Given the description of an element on the screen output the (x, y) to click on. 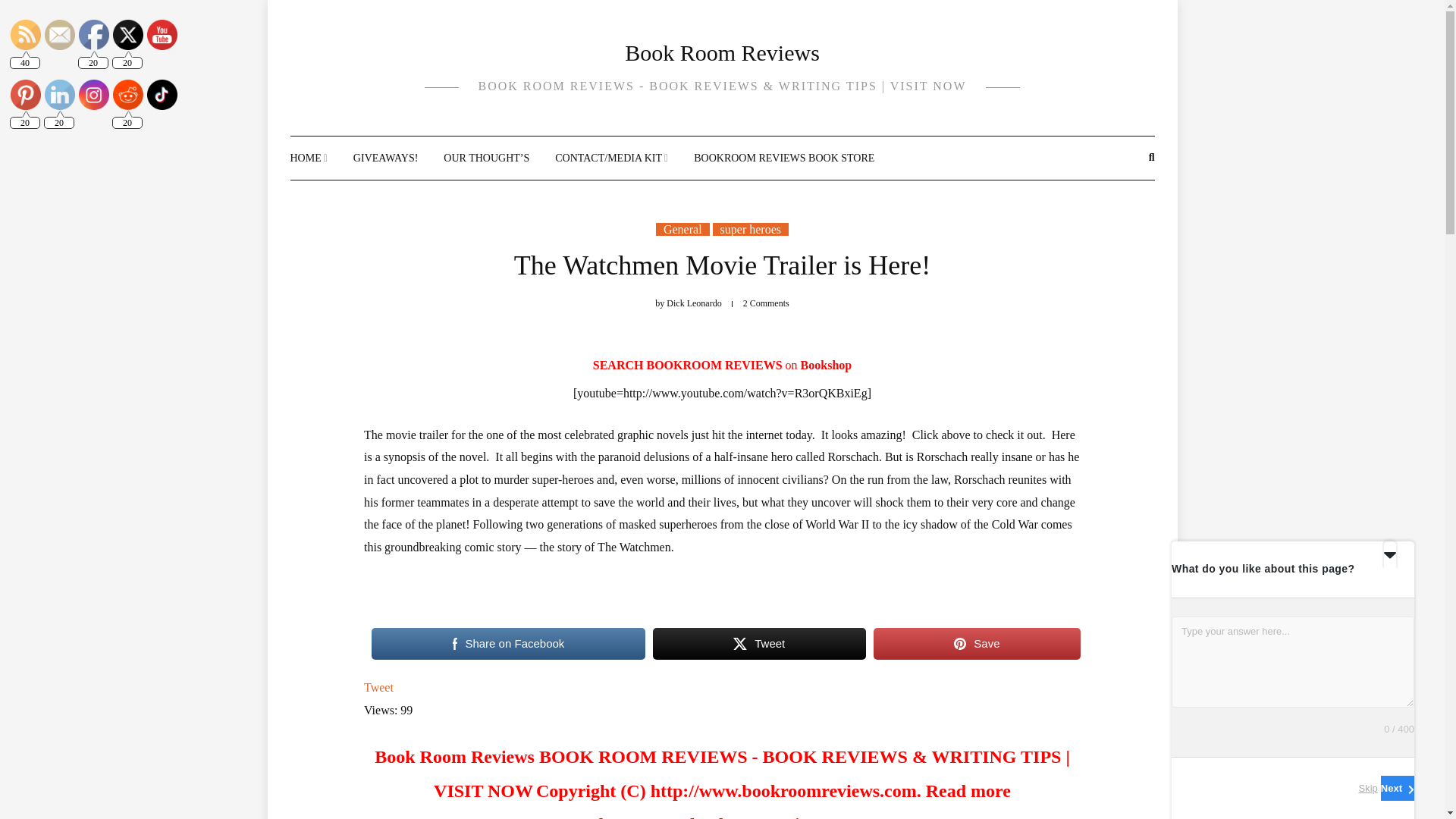
BOOKROOM REVIEWS BOOK STORE (784, 158)
Share on Facebook (508, 643)
Save (976, 643)
General (683, 228)
HOME (307, 158)
It Is What It Is -Our Thoughts (486, 158)
SEARCH (619, 364)
GIVEAWAYS! (385, 158)
Follow by Email (60, 34)
YouTube (162, 34)
Pinterest (25, 94)
Tweet (378, 686)
Facebook (93, 34)
Tweet (759, 643)
super heroes (751, 228)
